Given the description of an element on the screen output the (x, y) to click on. 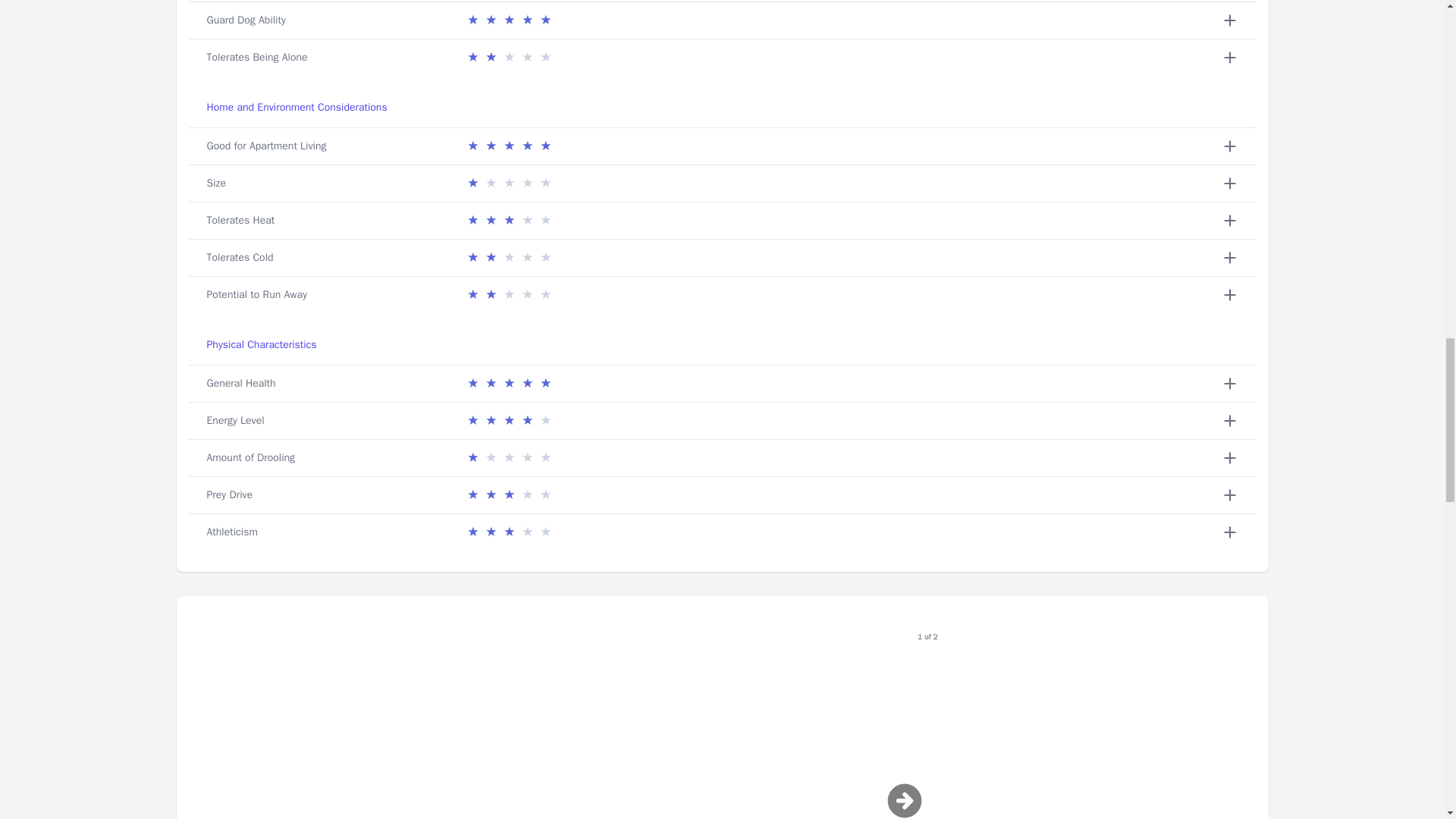
5 Stars (508, 146)
5 Stars (508, 20)
1 Star (508, 183)
3 Stars (508, 220)
2 Stars (508, 257)
2 Stars (508, 57)
2 Stars (508, 294)
